Given the description of an element on the screen output the (x, y) to click on. 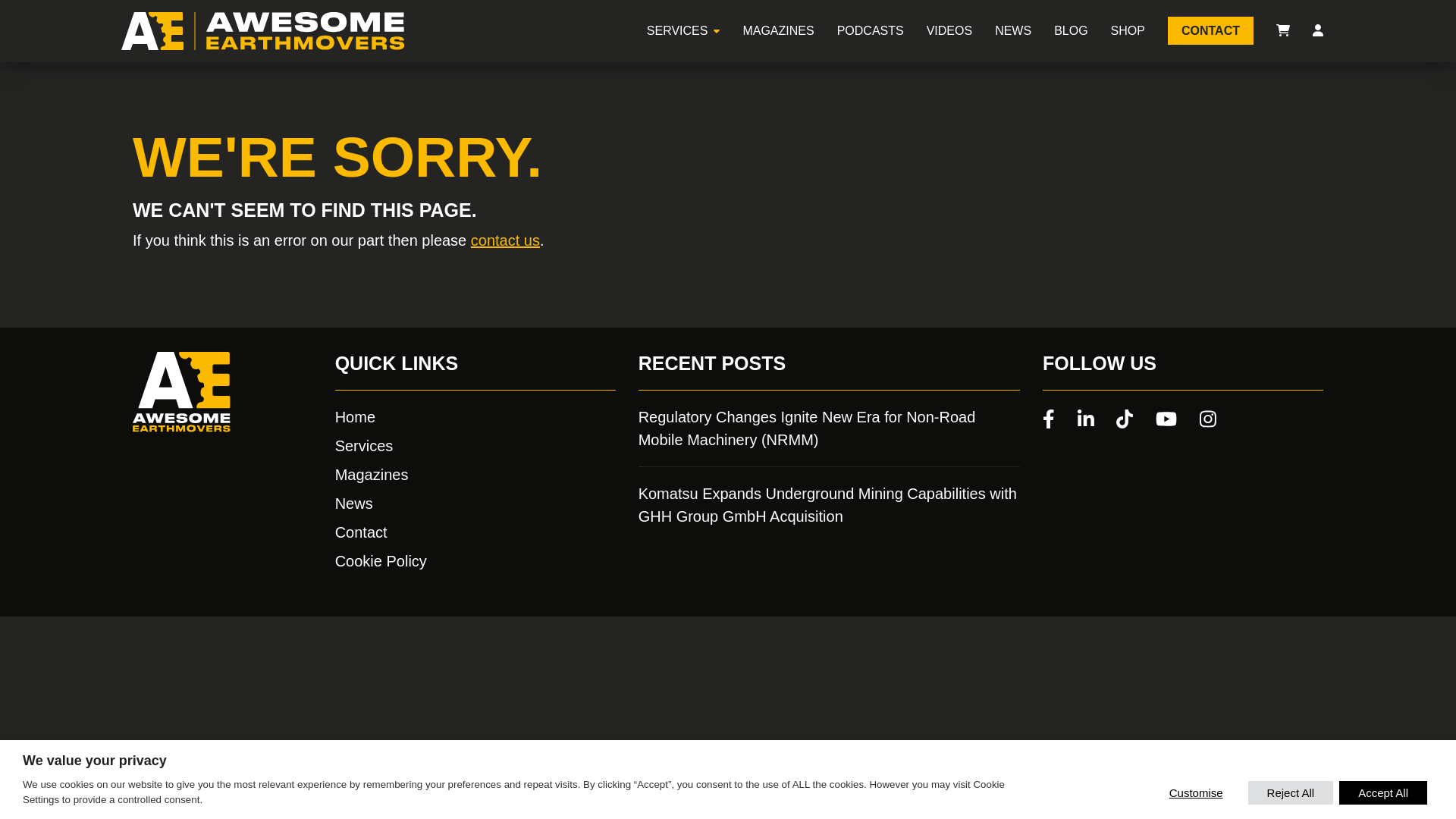
Magazines (474, 474)
Home (474, 416)
BLOG (1070, 30)
SHOP (1127, 30)
MAGAZINES (777, 30)
Cookie Policy (474, 560)
SERVICES (676, 30)
VIDEOS (949, 30)
CONTACT (1210, 30)
PODCASTS (870, 30)
NEWS (1012, 30)
Contact (474, 531)
News (474, 503)
Services (474, 445)
